Given the description of an element on the screen output the (x, y) to click on. 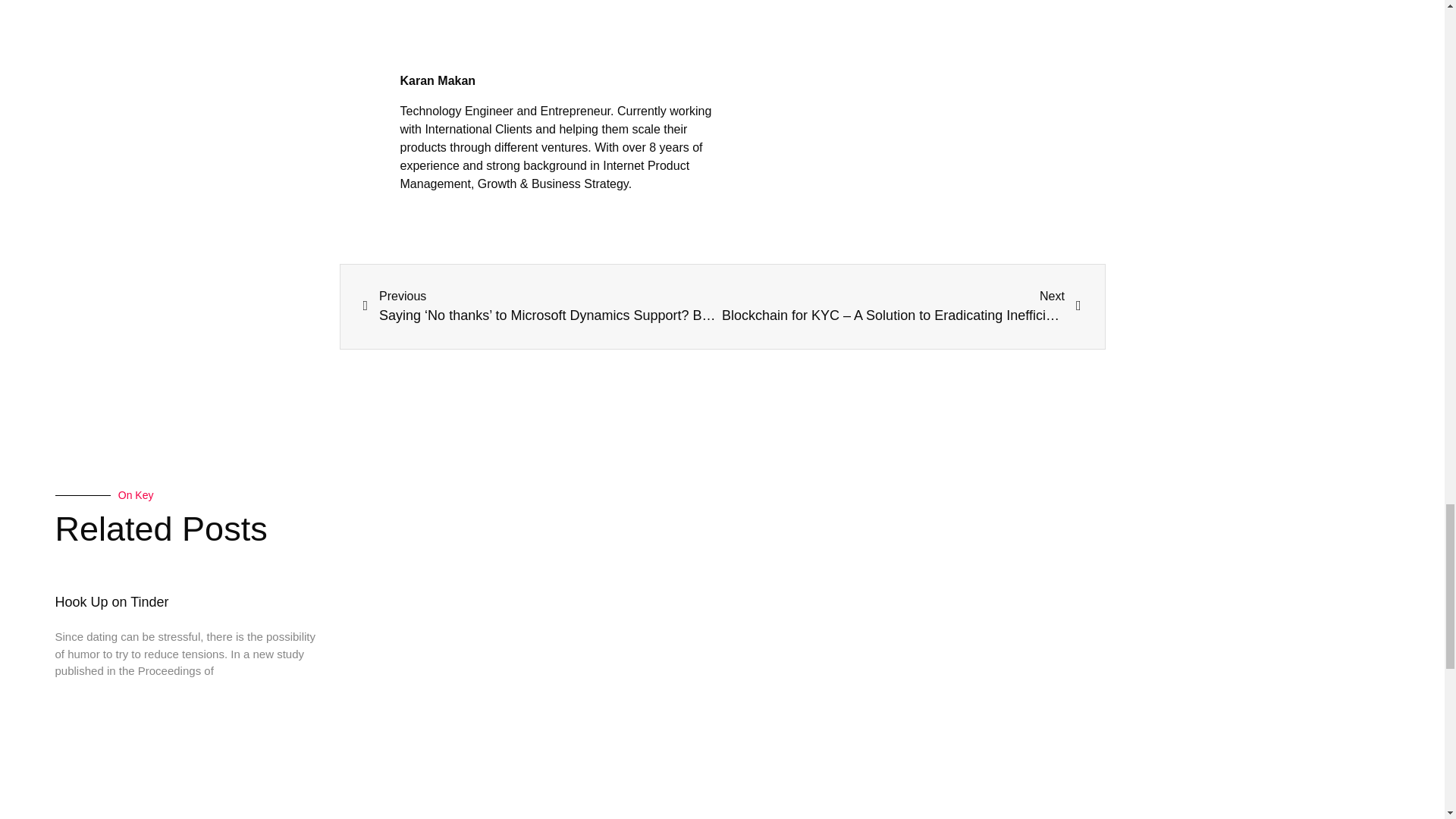
Hook Up on Tinder (111, 601)
